Given the description of an element on the screen output the (x, y) to click on. 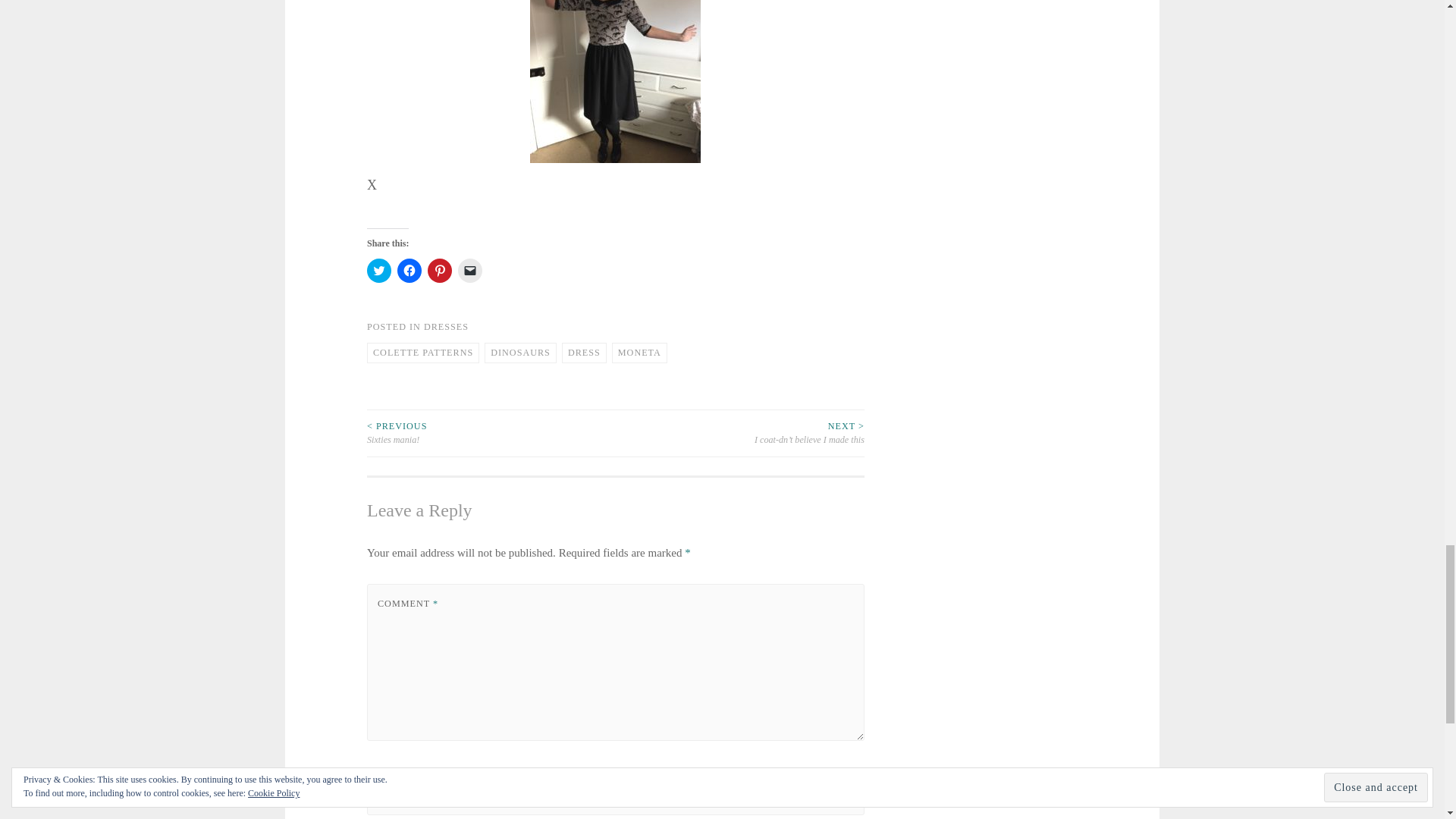
DRESS (584, 353)
Click to share on Facebook (409, 270)
DINOSAURS (520, 353)
Click to share on Pinterest (439, 270)
Click to email a link to a friend (469, 270)
COLETTE PATTERNS (422, 353)
DRESSES (445, 326)
Click to share on Twitter (378, 270)
MONETA (638, 353)
